Given the description of an element on the screen output the (x, y) to click on. 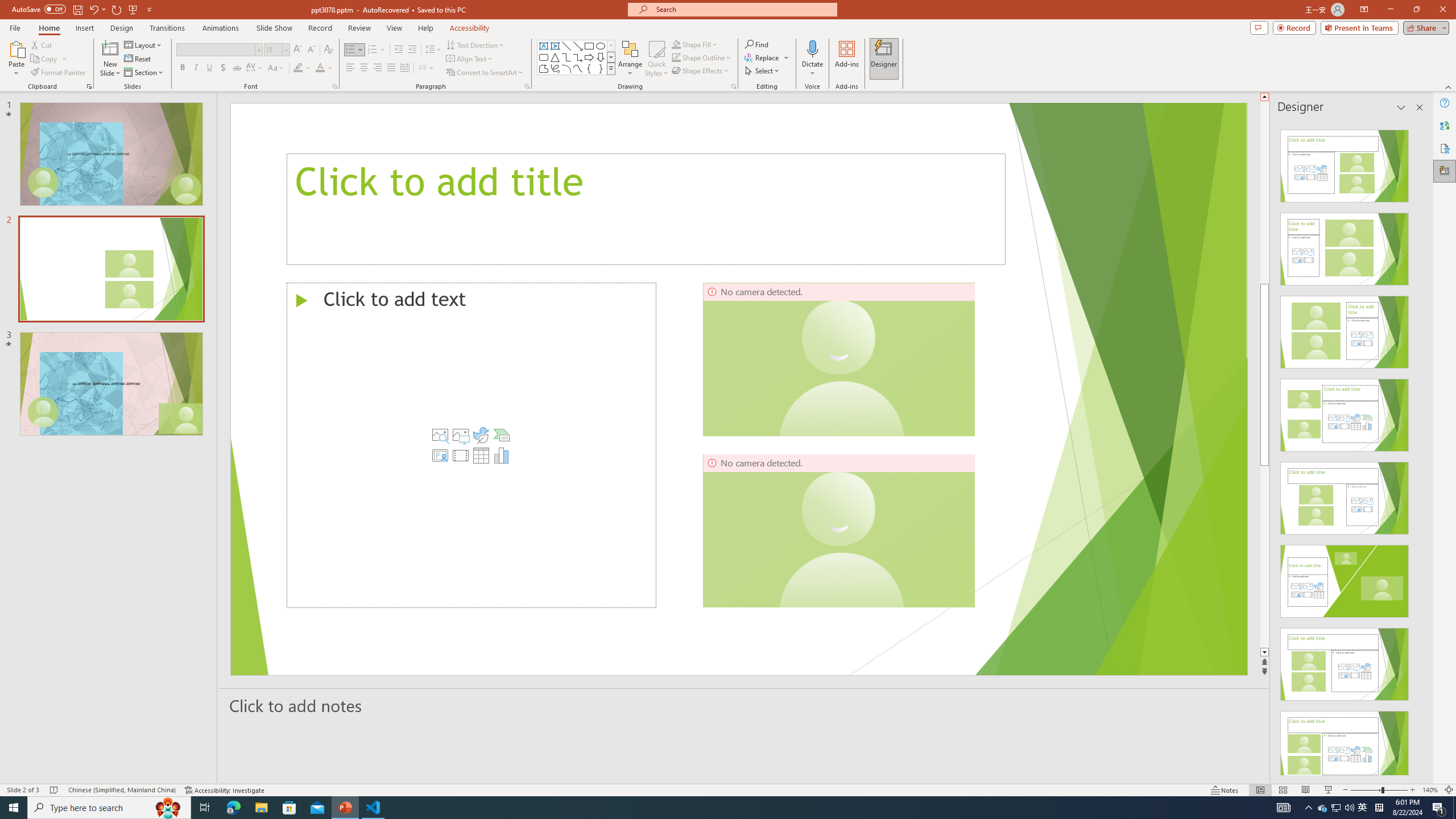
Insert Chart (501, 455)
Rectangle: Rounded Corners (543, 57)
Pictures (460, 434)
Page up (1264, 192)
Rectangle (589, 45)
Translator (1444, 125)
Select (762, 69)
Increase Font Size (297, 49)
